Given the description of an element on the screen output the (x, y) to click on. 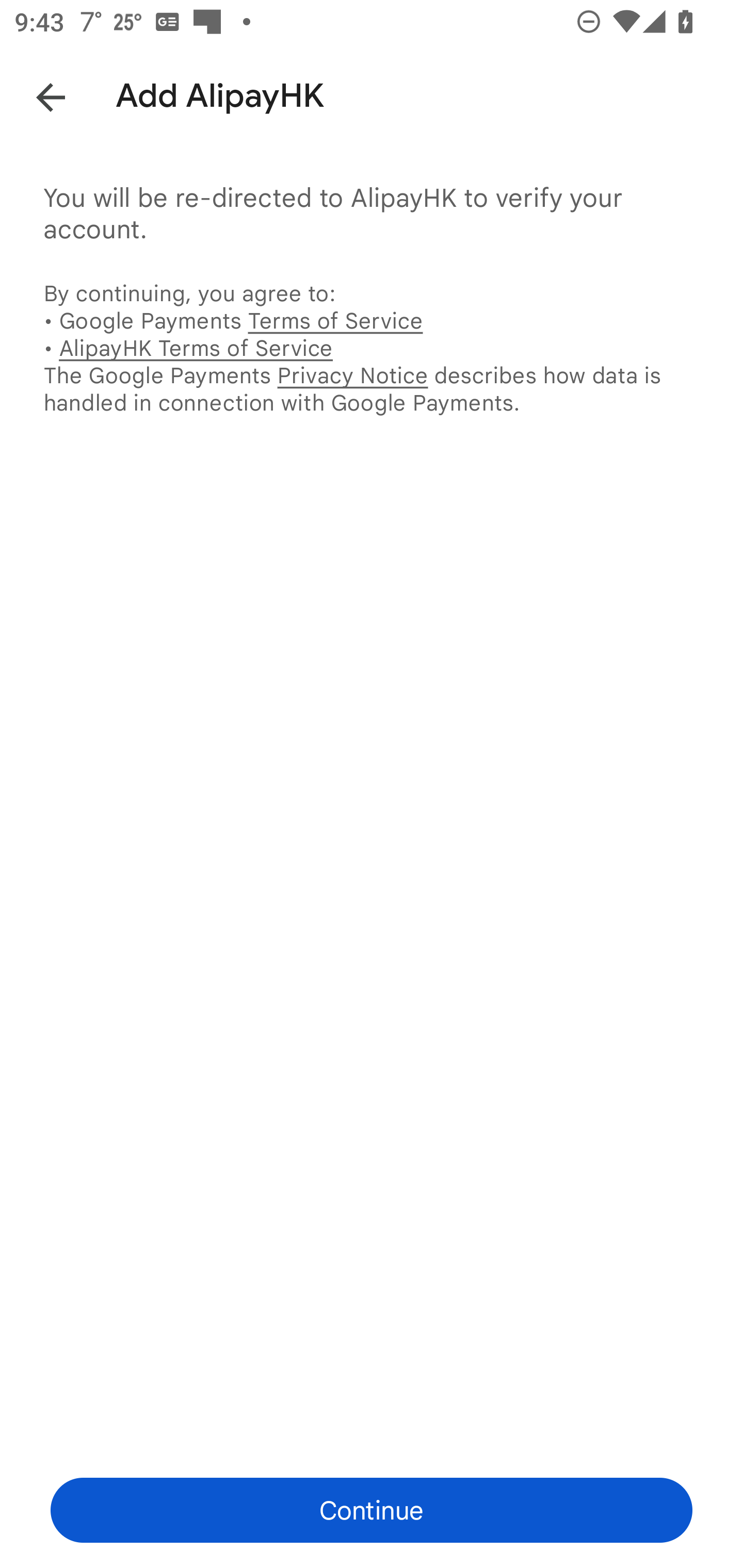
Back (36, 94)
Terms of Service (334, 320)
AlipayHK Terms of Service (195, 347)
Privacy Notice (352, 375)
Continue (371, 1510)
